Given the description of an element on the screen output the (x, y) to click on. 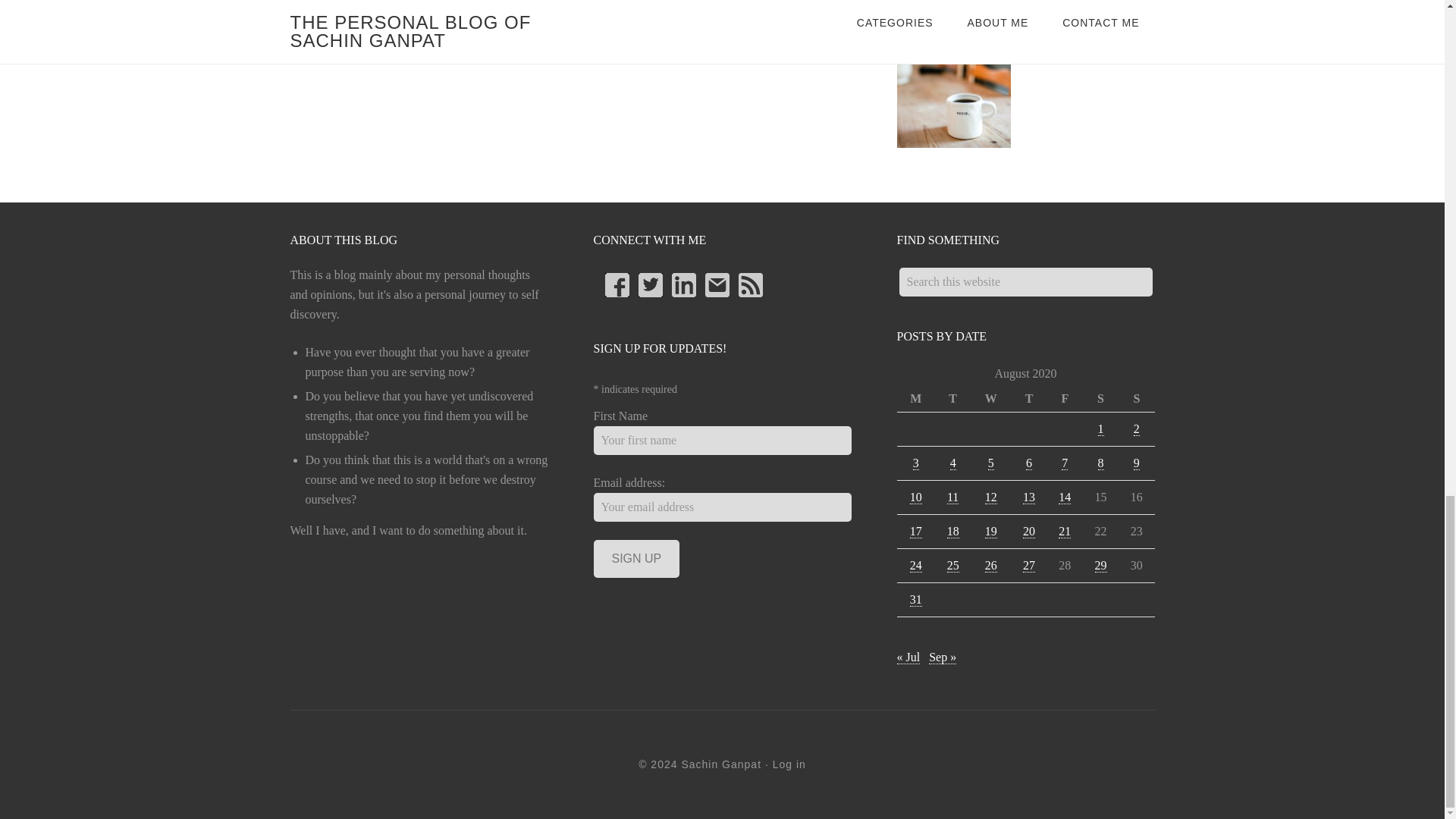
Saturday (1100, 398)
Thursday (1028, 398)
Wednesday (990, 398)
Friday (1064, 398)
Sign up (635, 558)
Tuesday (952, 398)
Monday (915, 398)
Sunday (1136, 398)
